Given the description of an element on the screen output the (x, y) to click on. 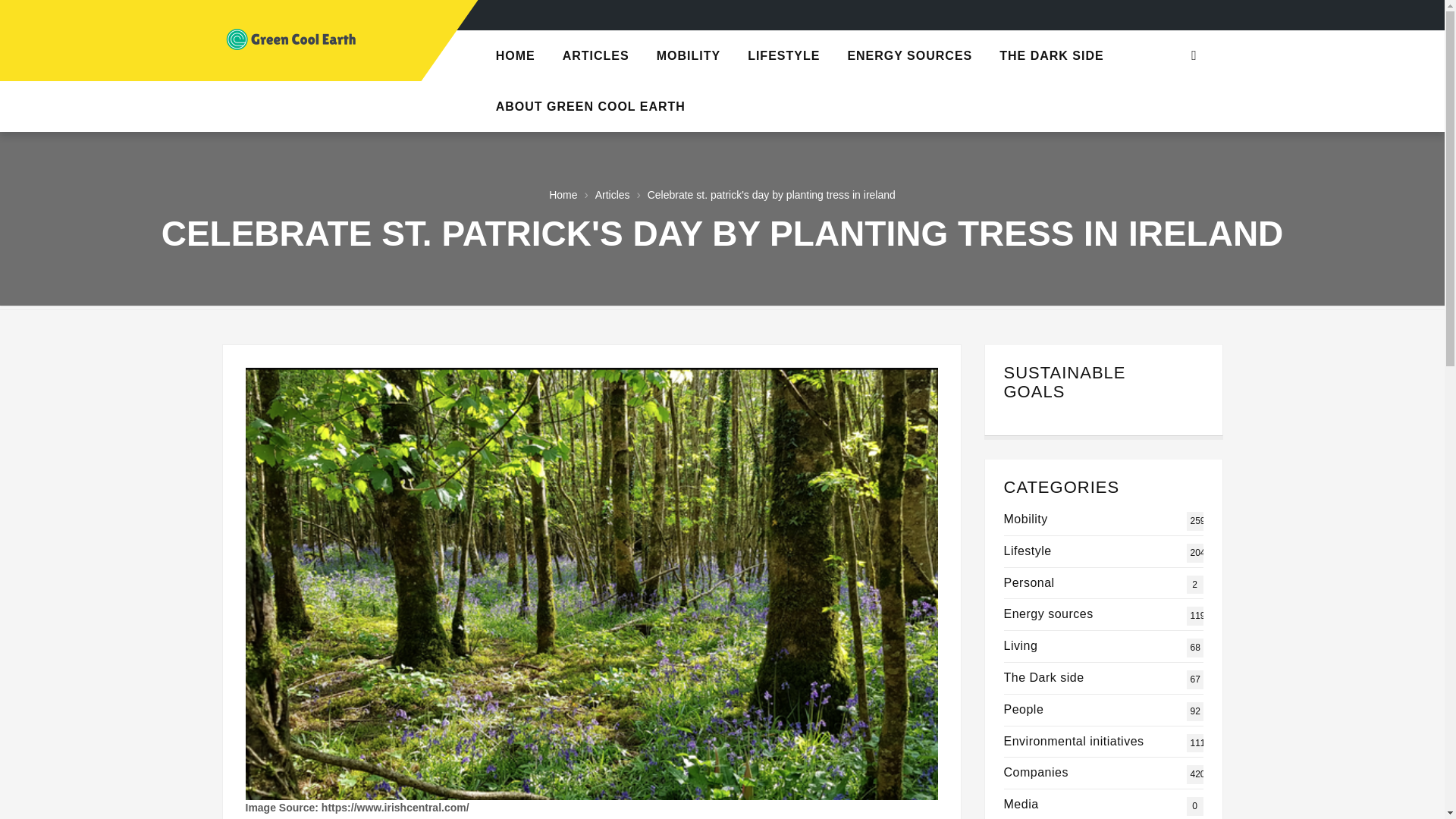
The Dark side (1044, 676)
Living (1021, 645)
Search (1193, 54)
Lifestyle (1027, 550)
THE DARK SIDE (1050, 55)
Energy sources (1048, 613)
Articles (612, 194)
HOME (514, 55)
Mobility (1026, 518)
Personal (1029, 582)
ARTICLES (595, 55)
Home (562, 194)
LIFESTYLE (782, 55)
MOBILITY (688, 55)
Companies (1036, 771)
